Given the description of an element on the screen output the (x, y) to click on. 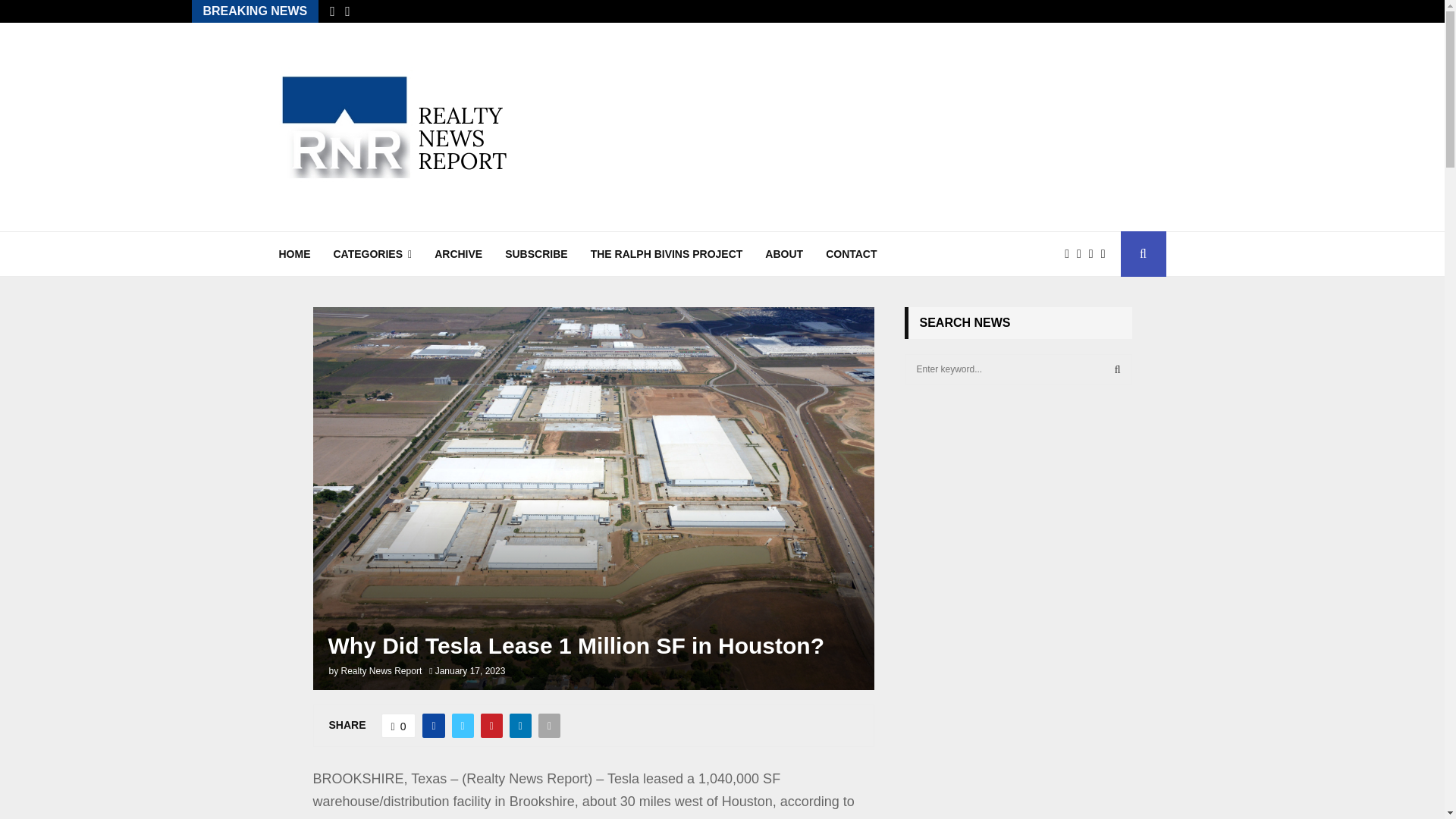
CONTACT (850, 253)
Like (398, 725)
CATEGORIES (372, 253)
SUBSCRIBE (536, 253)
THE RALPH BIVINS PROJECT (666, 253)
ARCHIVE (457, 253)
